Given the description of an element on the screen output the (x, y) to click on. 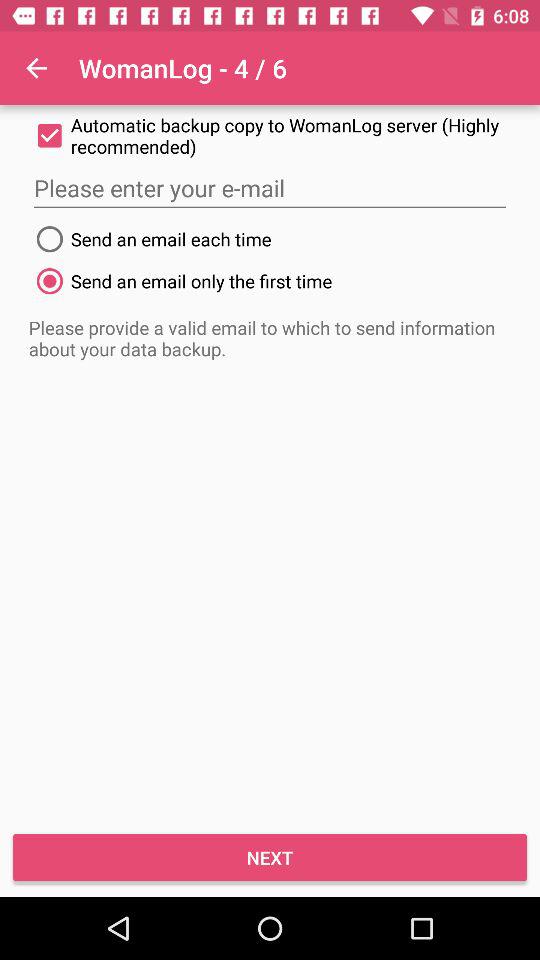
turn on item below the automatic backup copy icon (269, 188)
